Given the description of an element on the screen output the (x, y) to click on. 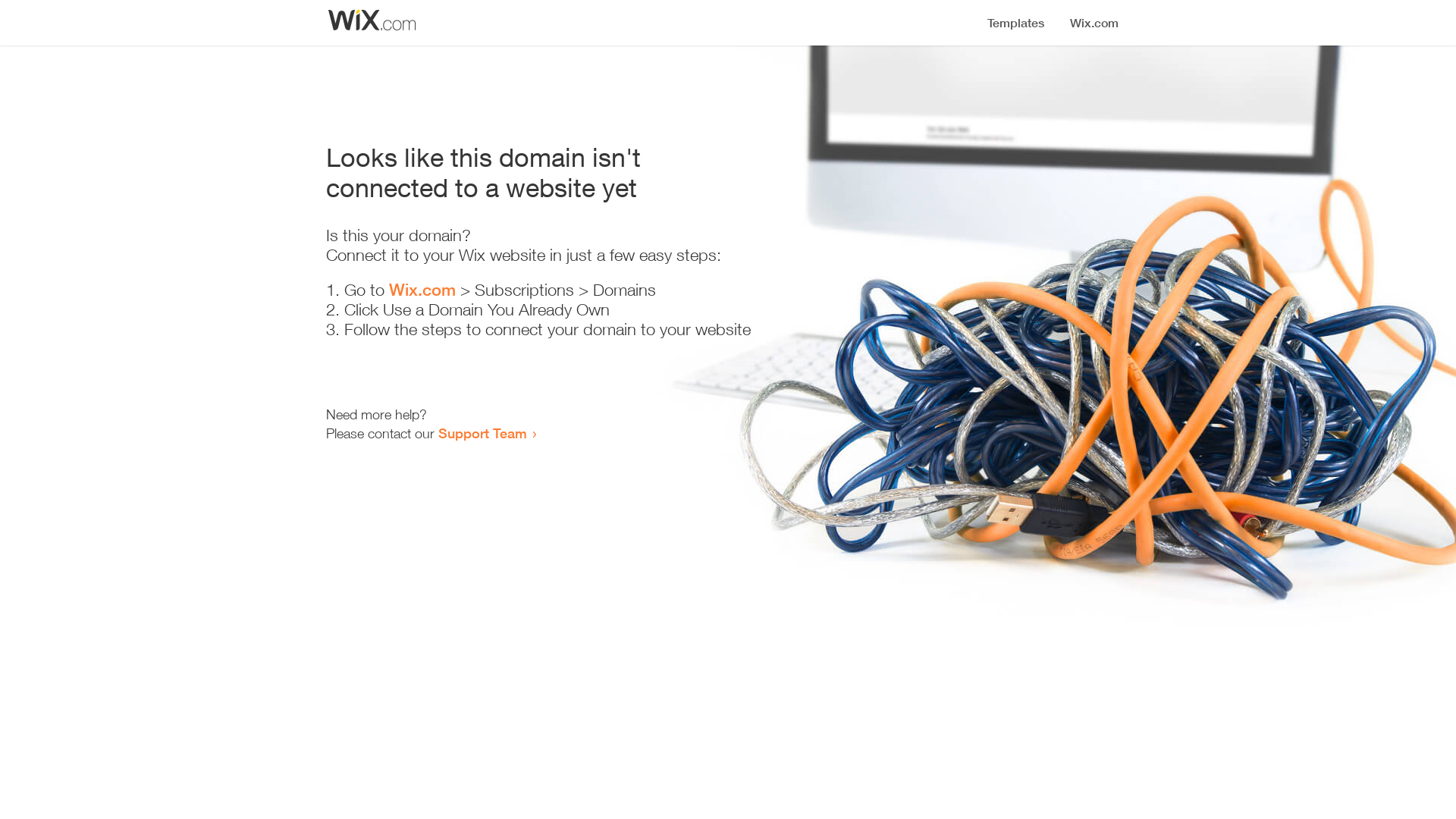
Support Team Element type: text (482, 432)
Wix.com Element type: text (422, 289)
